Given the description of an element on the screen output the (x, y) to click on. 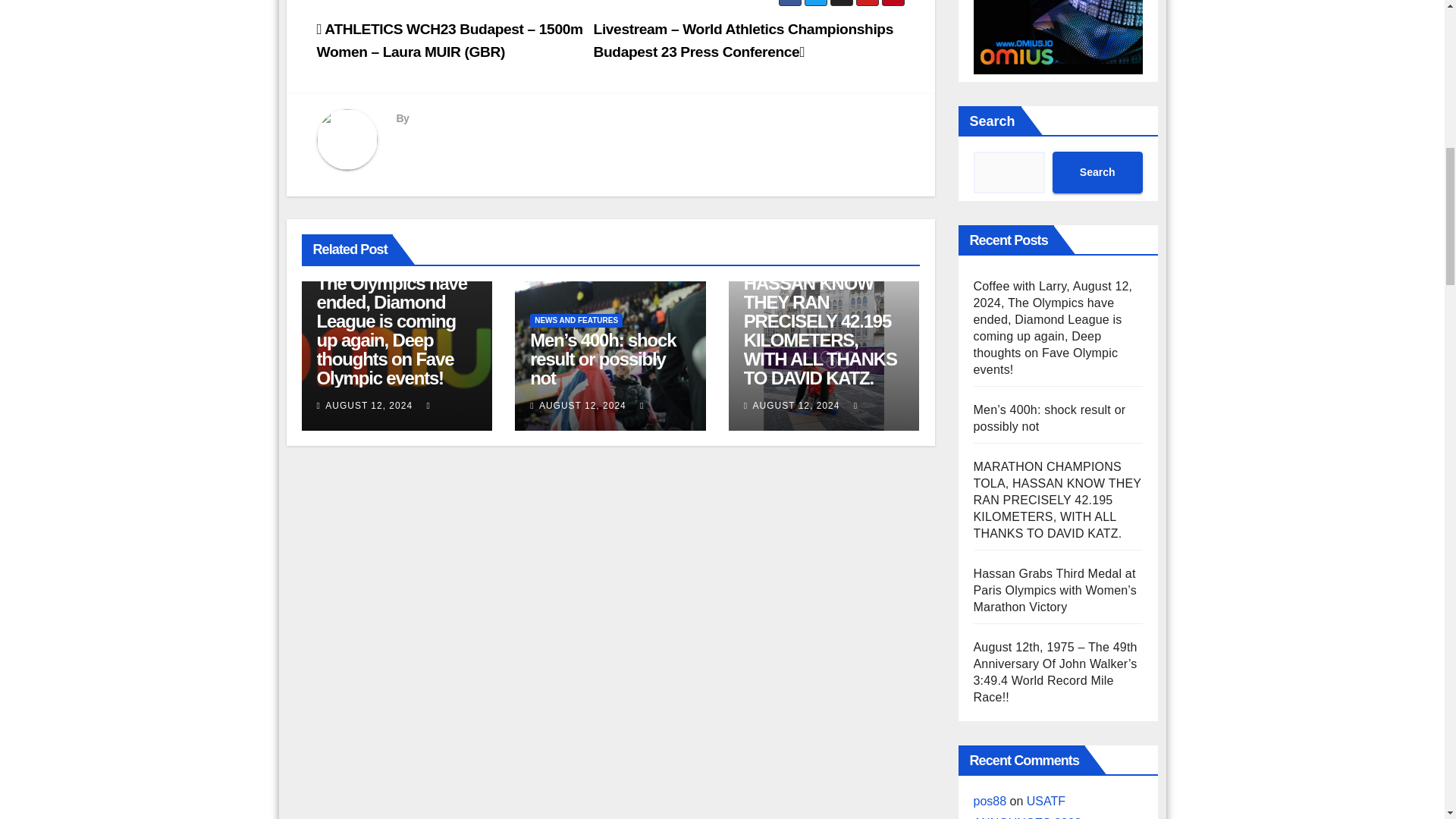
NEWS AND FEATURES (576, 320)
AUGUST 12, 2024 (582, 405)
AUGUST 12, 2024 (368, 405)
